Given the description of an element on the screen output the (x, y) to click on. 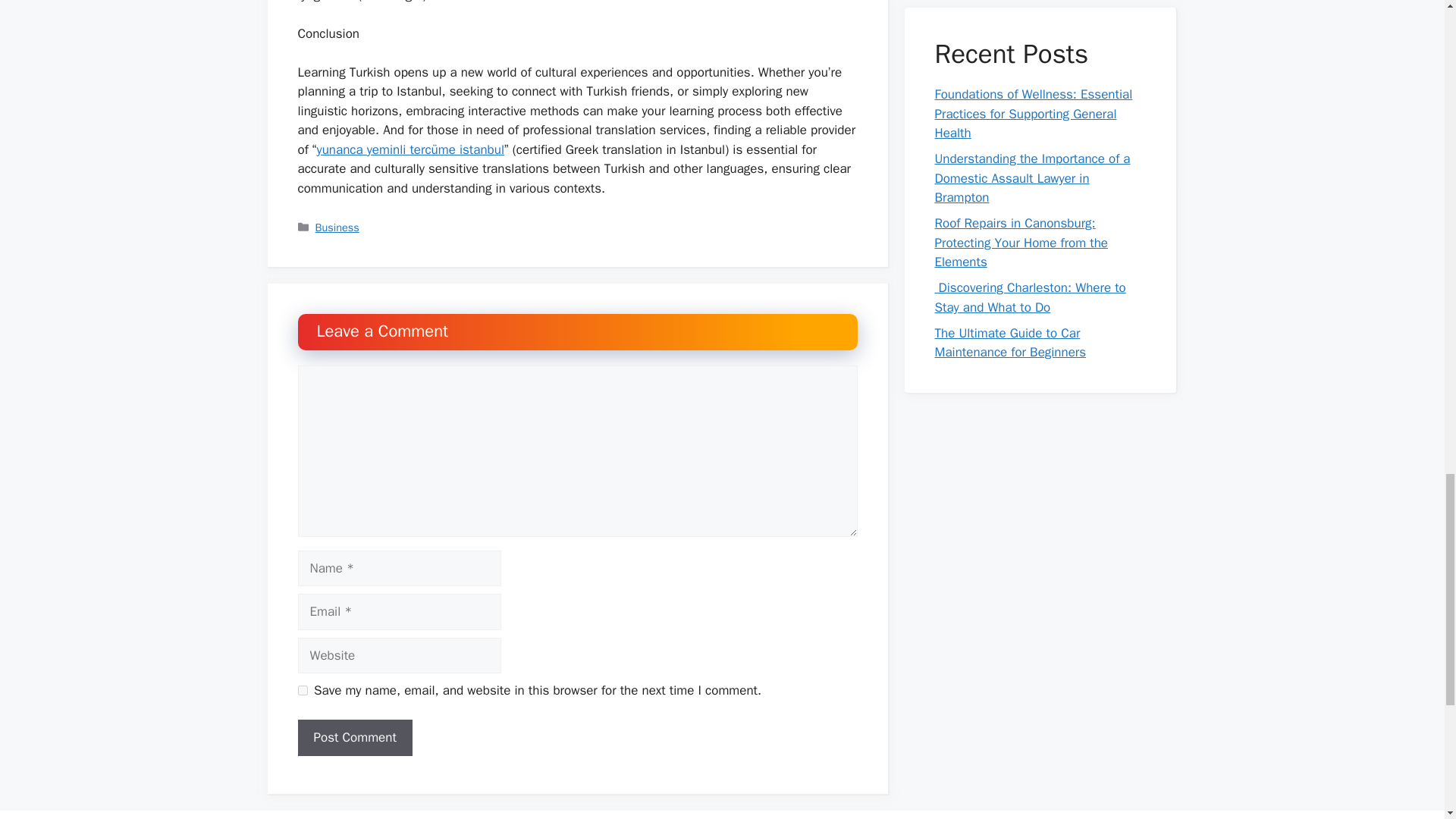
yes (302, 690)
Post Comment (354, 737)
Post Comment (354, 737)
Business (337, 227)
